Given the description of an element on the screen output the (x, y) to click on. 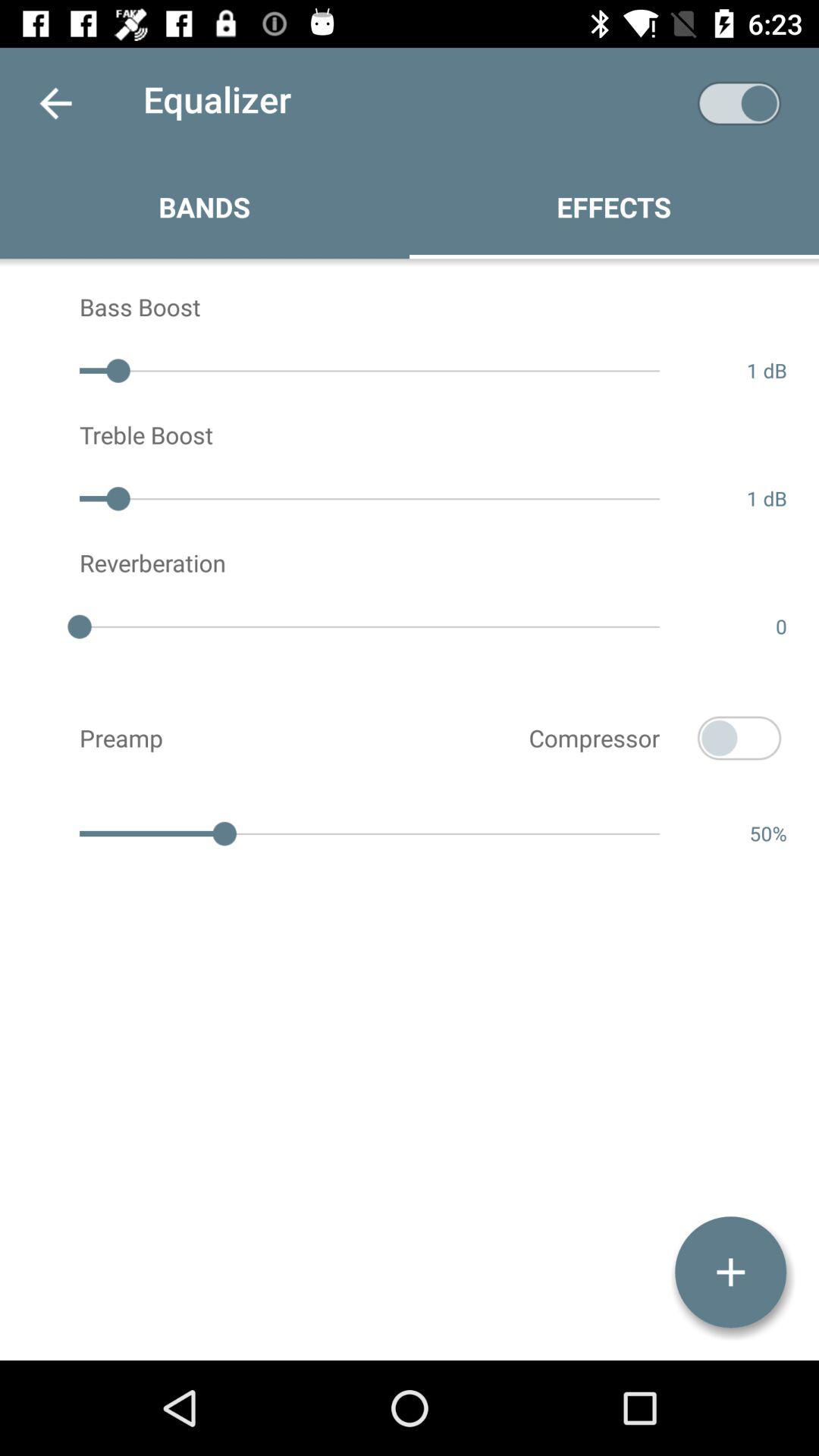
press the app to the right of effects icon (739, 103)
